Given the description of an element on the screen output the (x, y) to click on. 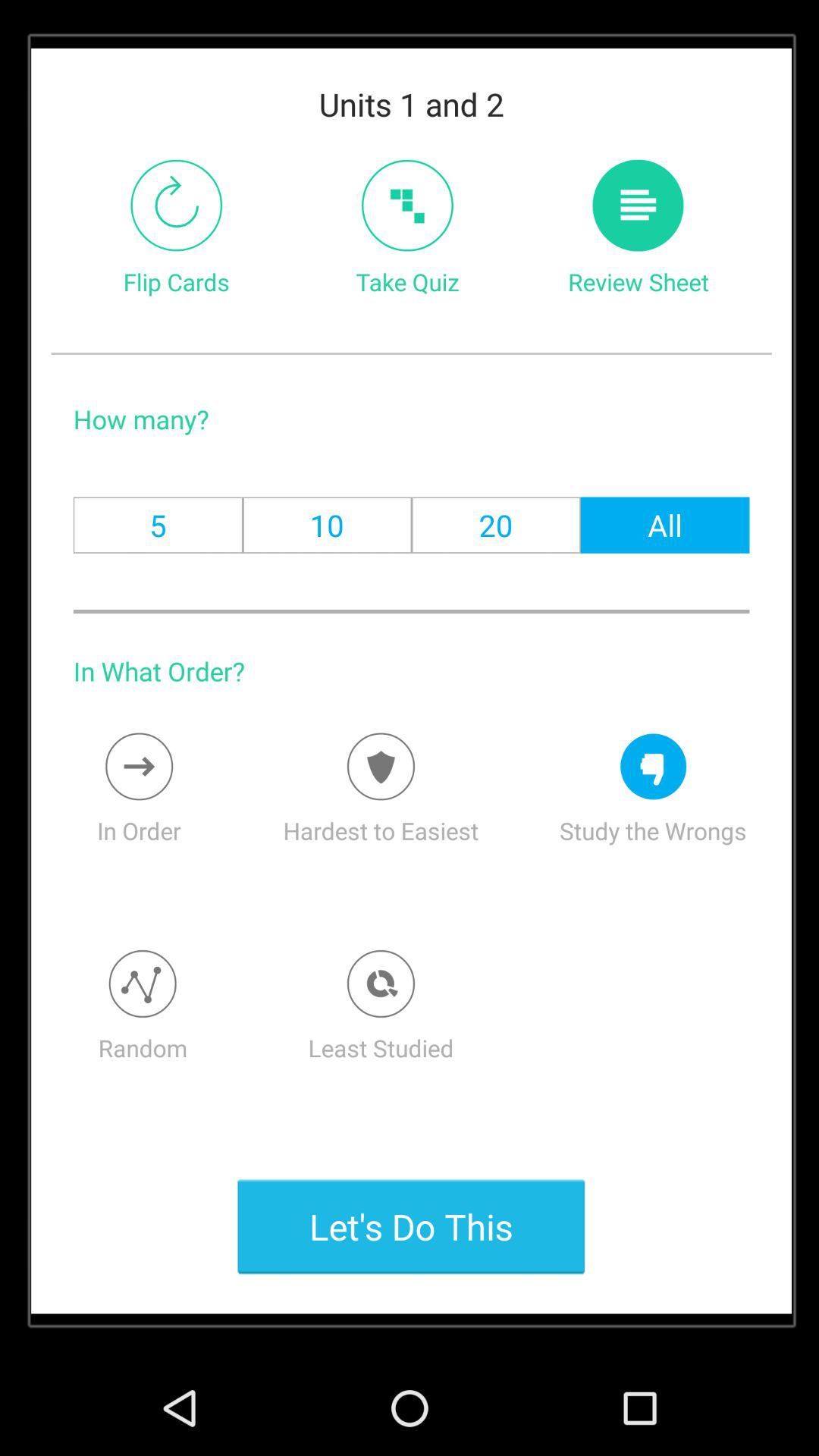
launch icon to the right of the 10 (495, 525)
